Given the description of an element on the screen output the (x, y) to click on. 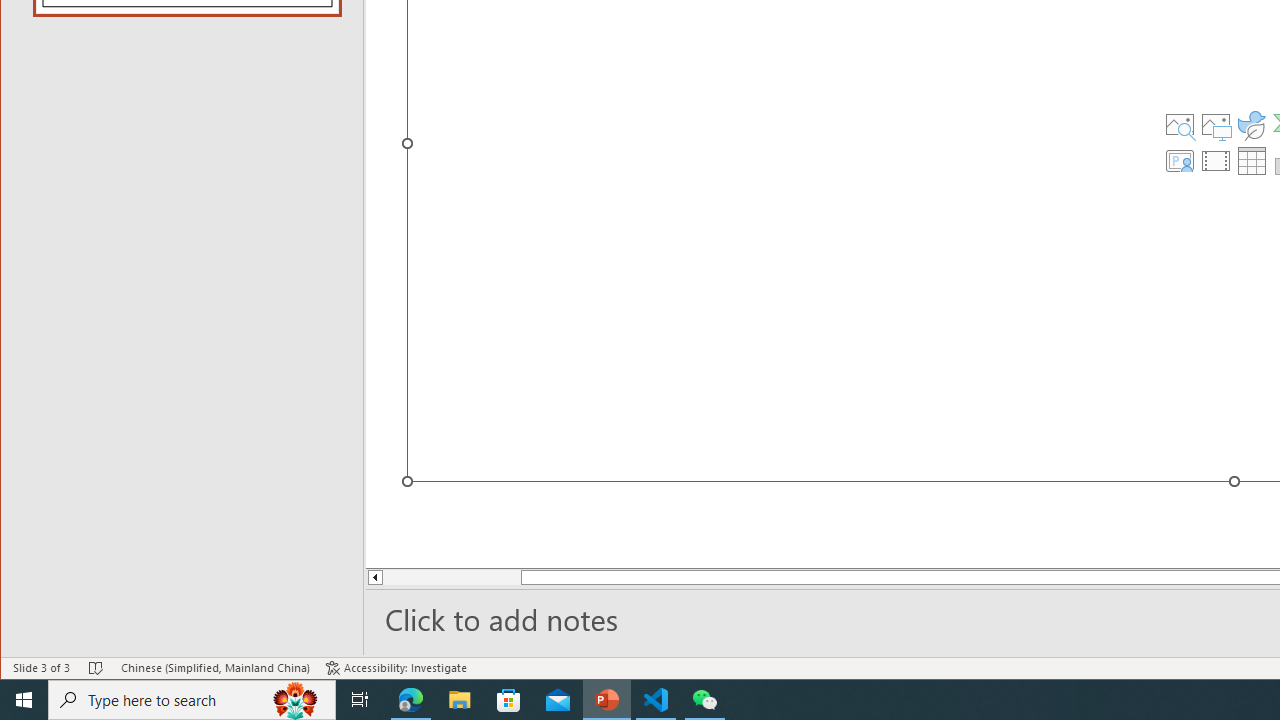
Accessibility Checker Accessibility: Investigate (395, 668)
Microsoft Store (509, 699)
Microsoft Edge - 1 running window (411, 699)
Visual Studio Code - 1 running window (656, 699)
Type here to search (191, 699)
File Explorer (460, 699)
Start (24, 699)
WeChat - 1 running window (704, 699)
Insert Cameo (1179, 160)
Task View (359, 699)
Insert Table (1252, 160)
Page up (438, 577)
Search highlights icon opens search home window (295, 699)
Line up (374, 577)
Pictures (1215, 124)
